Given the description of an element on the screen output the (x, y) to click on. 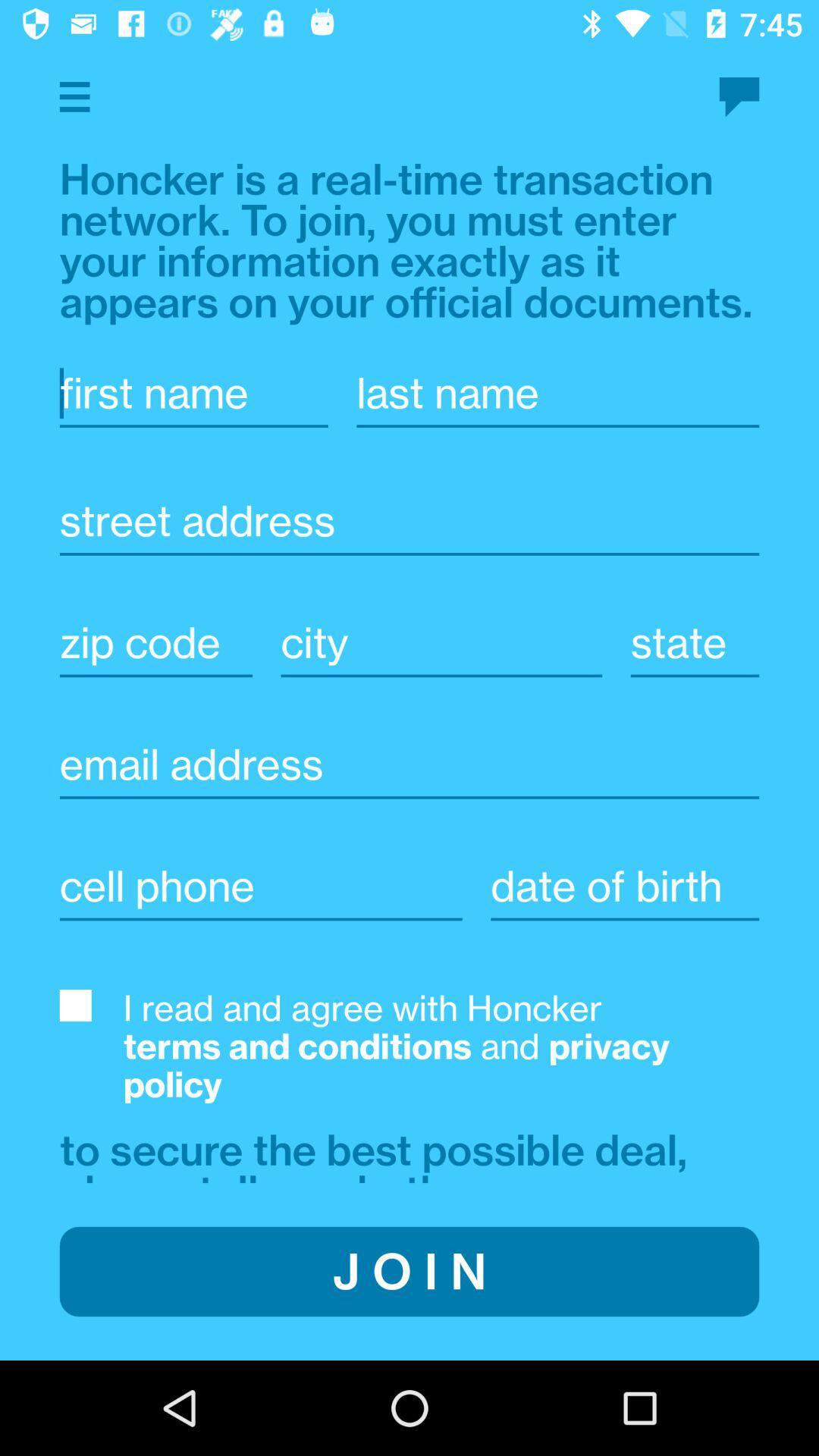
write the zip code (155, 642)
